Given the description of an element on the screen output the (x, y) to click on. 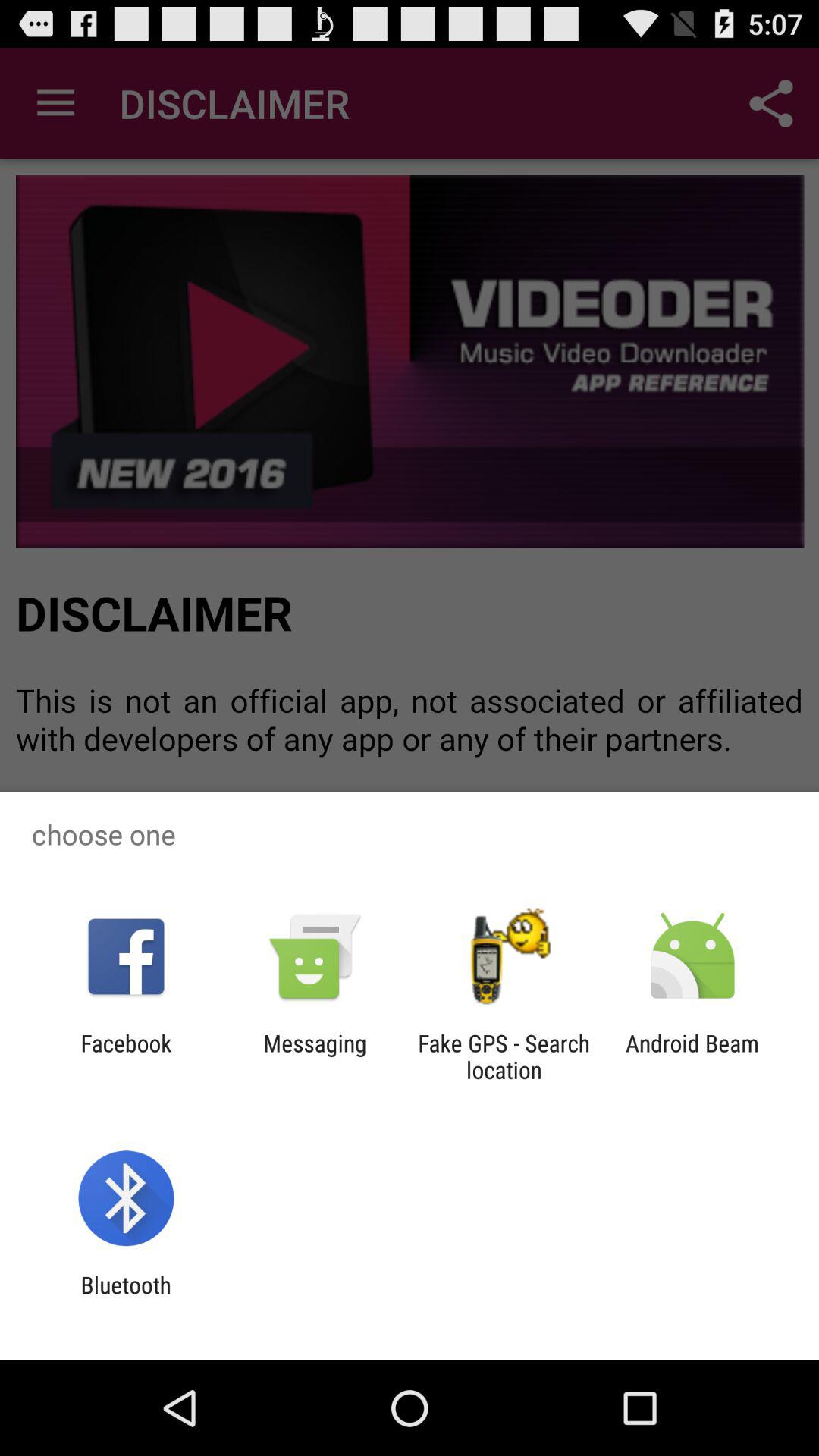
tap facebook (125, 1056)
